Given the description of an element on the screen output the (x, y) to click on. 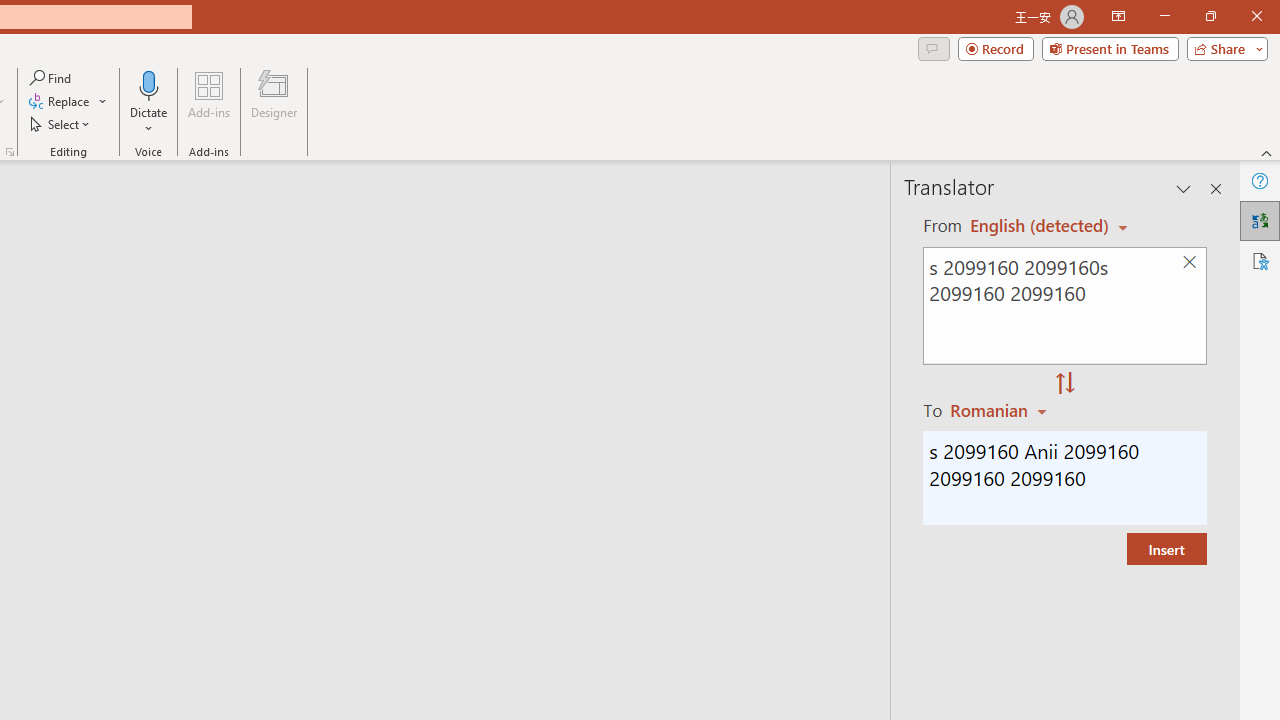
Swap "from" and "to" languages. (1065, 383)
Czech (detected) (1039, 225)
